Given the description of an element on the screen output the (x, y) to click on. 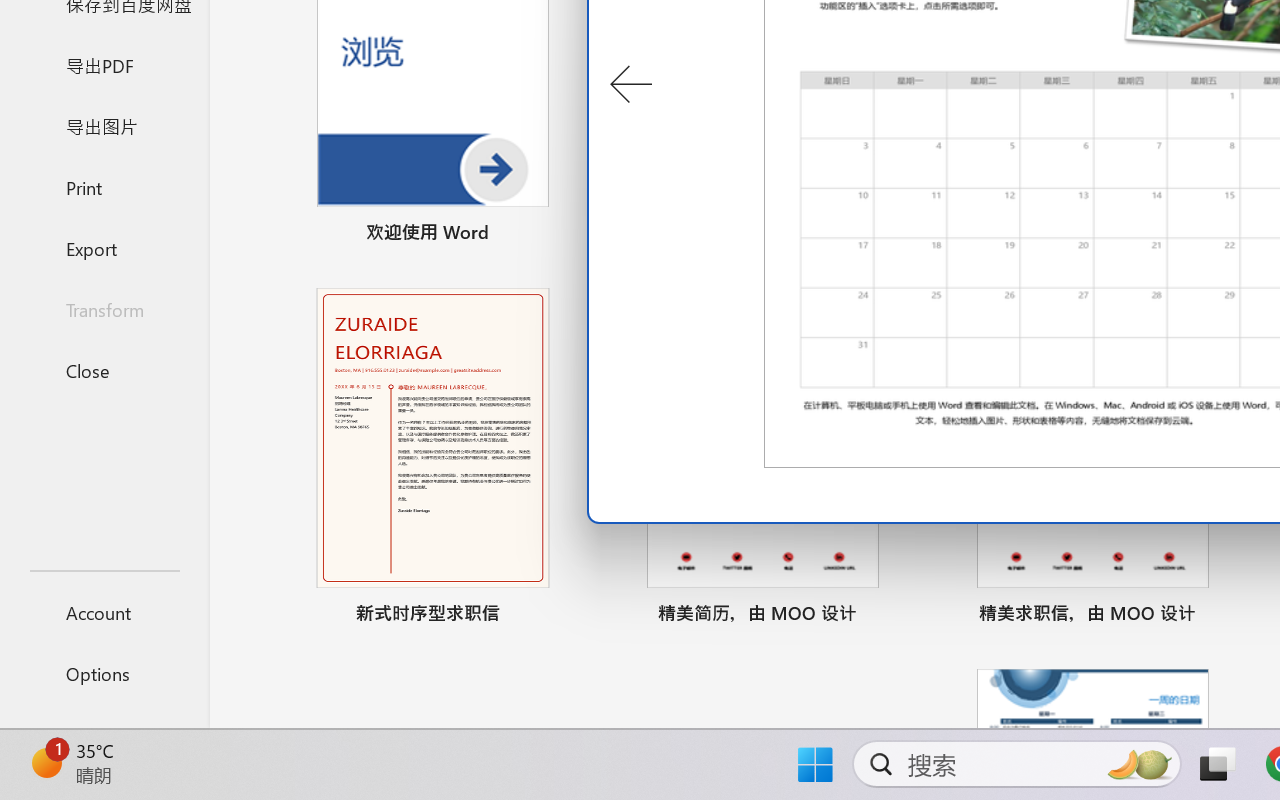
Account (104, 612)
Options (104, 673)
